Given the description of an element on the screen output the (x, y) to click on. 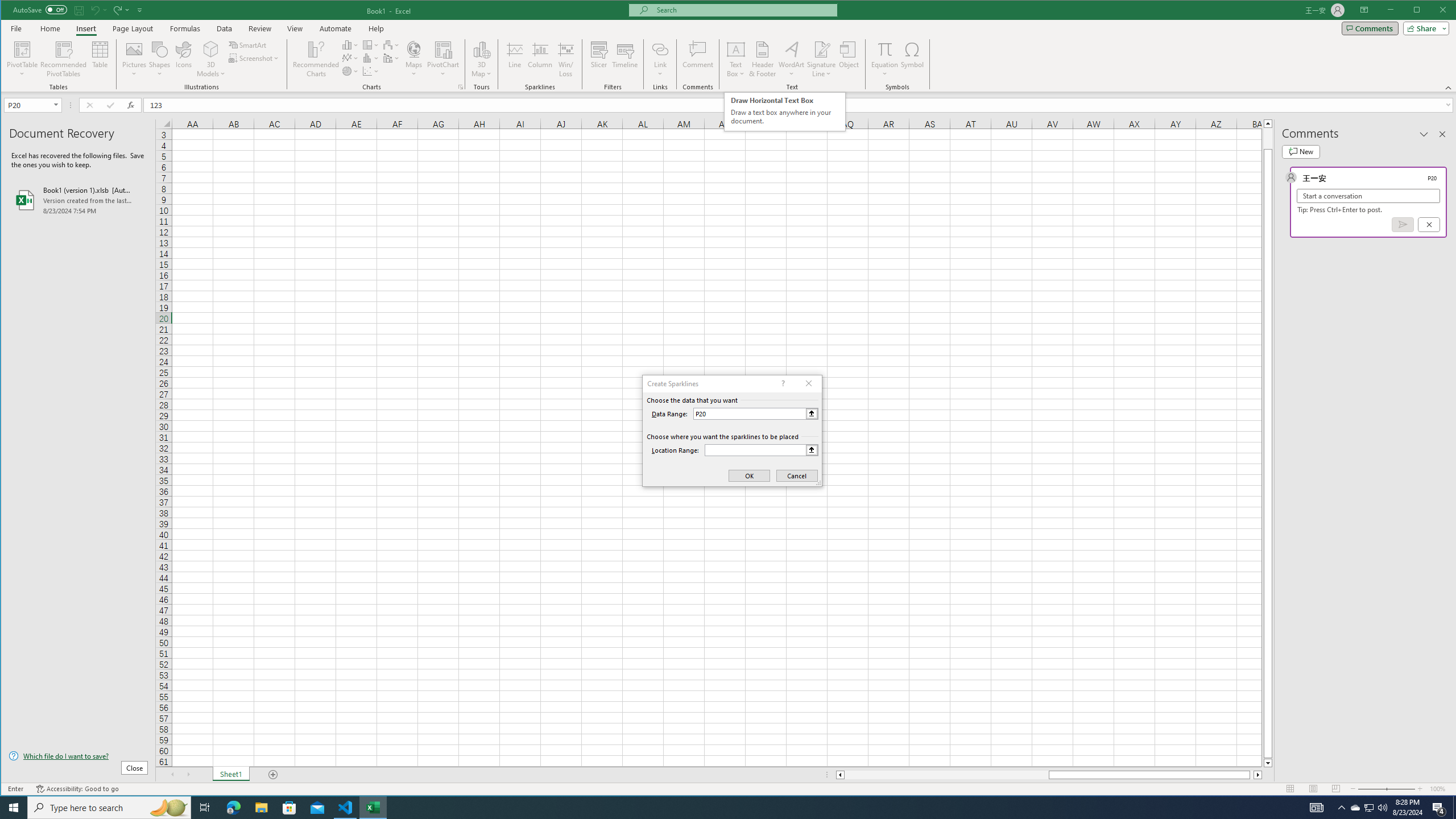
Cancel (1428, 224)
